Given the description of an element on the screen output the (x, y) to click on. 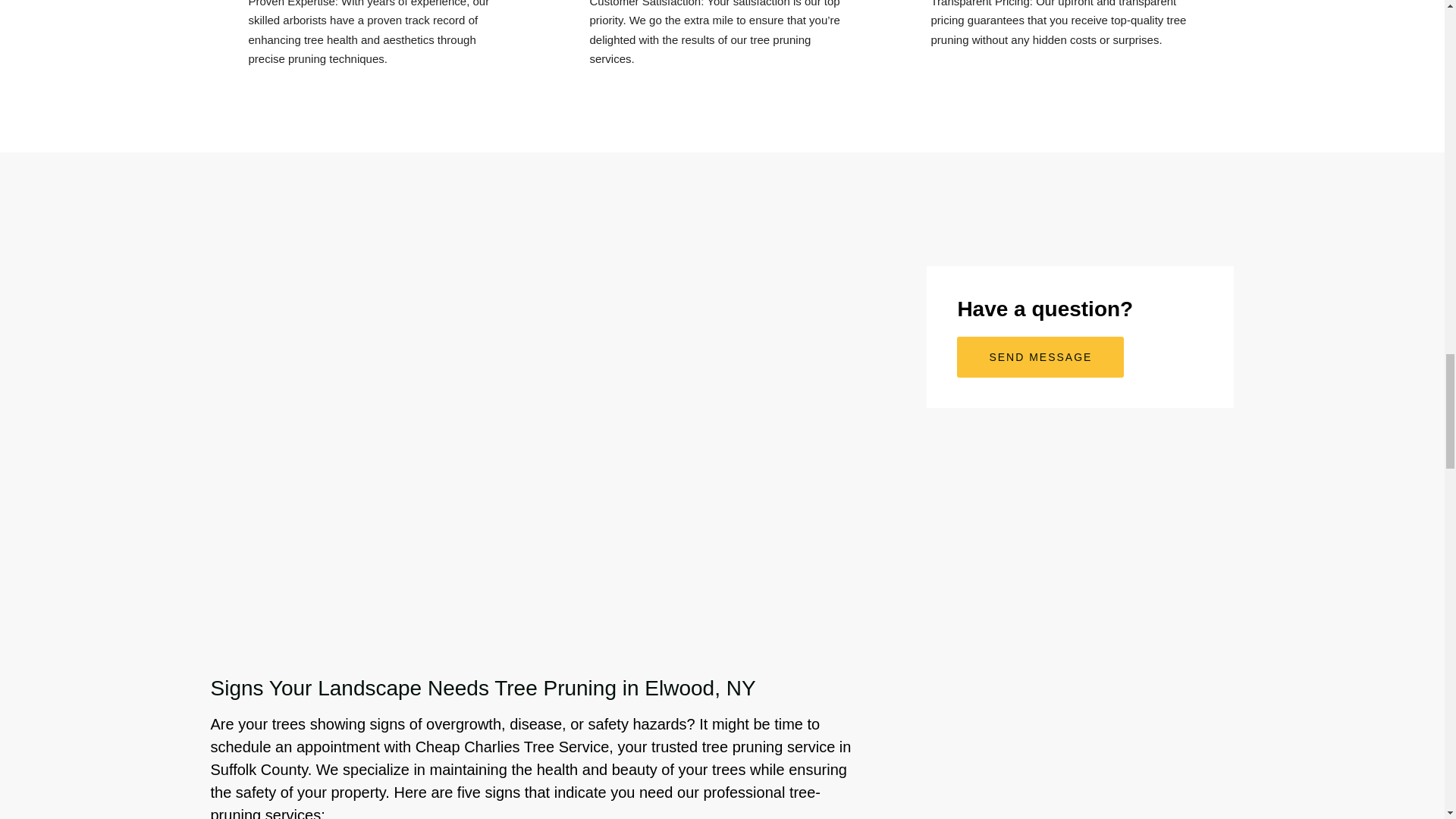
SEND MESSAGE (1040, 356)
